Given the description of an element on the screen output the (x, y) to click on. 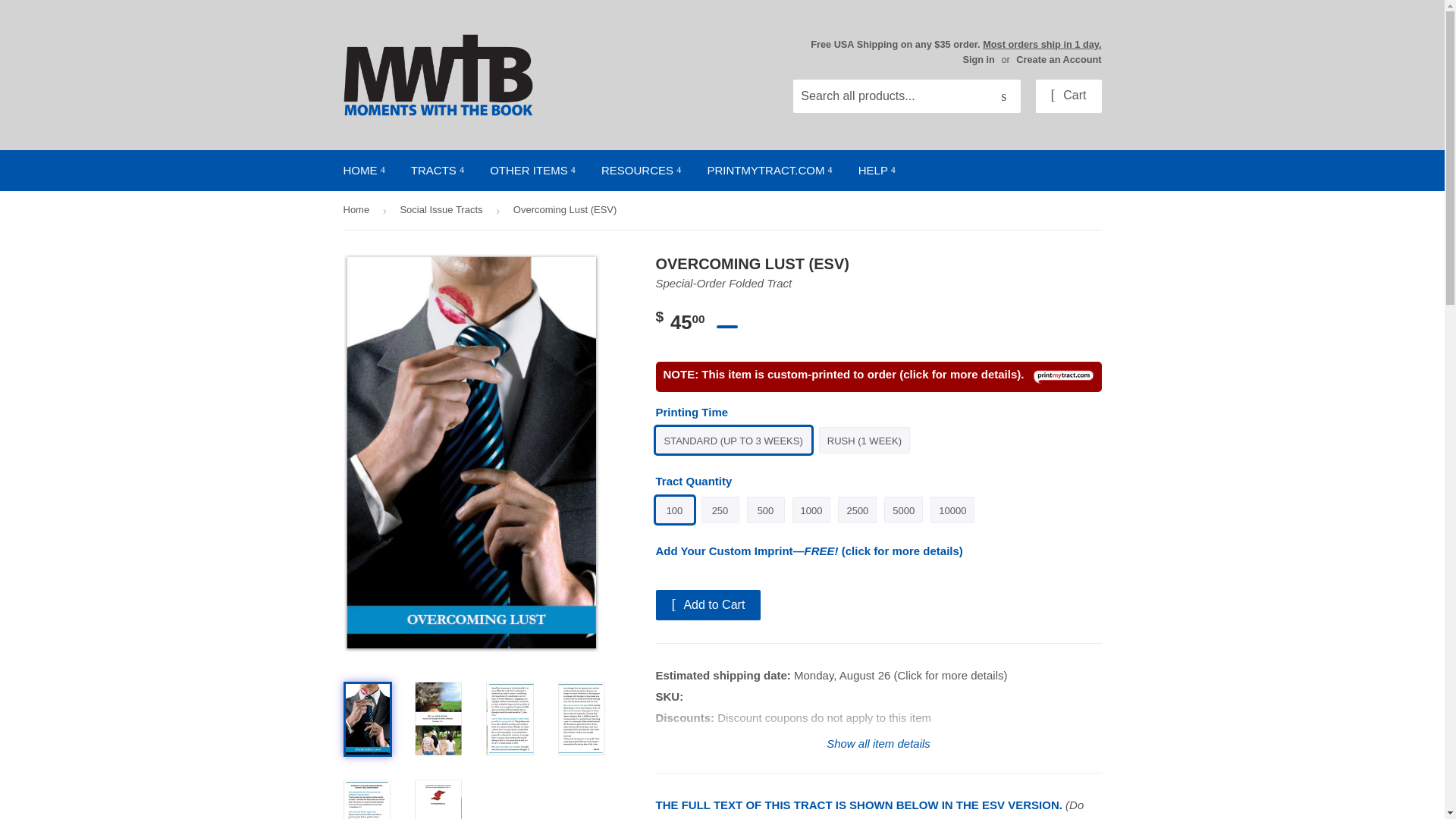
TRACTS (437, 169)
Create an Account (1058, 59)
OTHER ITEMS (532, 169)
RESOURCES (641, 169)
PRINTMYTRACT.COM (769, 169)
Cart (1068, 96)
Search (1003, 97)
HOME (363, 169)
Back to the frontpage (358, 210)
Sign in (978, 59)
